Given the description of an element on the screen output the (x, y) to click on. 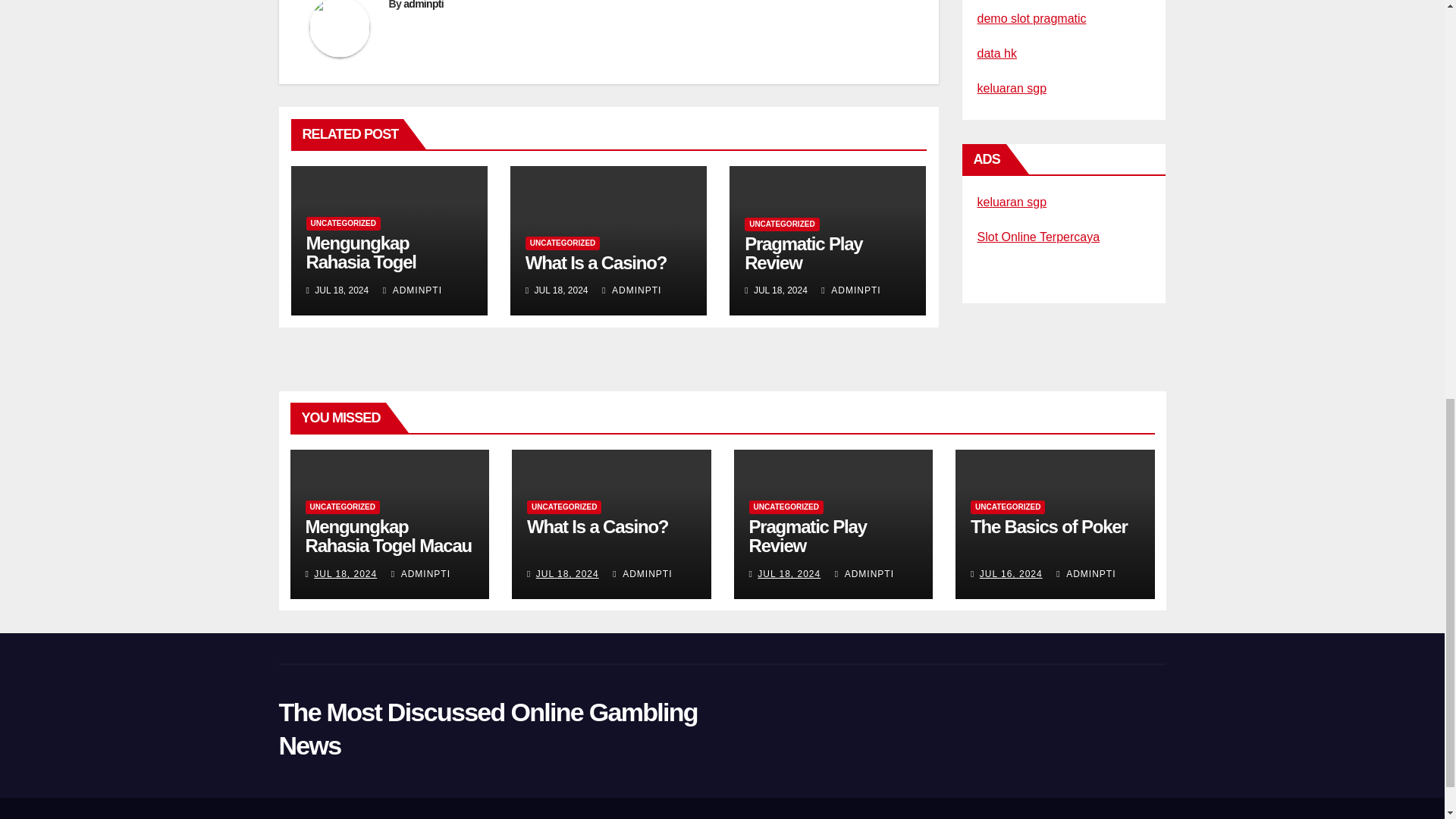
Home (1052, 817)
UNCATEGORIZED (342, 223)
Permalink to: What Is a Casino? (597, 526)
Permalink to: What Is a Casino? (595, 262)
Permalink to: Pragmatic Play Review (802, 252)
ADMINPTI (412, 290)
ADMINPTI (850, 290)
Permalink to: The Basics of Poker (1048, 526)
What Is a Casino? (595, 262)
UNCATEGORIZED (781, 223)
adminpti (423, 4)
ADMINPTI (631, 290)
demo slot pragmatic (1031, 18)
Pragmatic Play Review (802, 252)
UNCATEGORIZED (562, 243)
